Given the description of an element on the screen output the (x, y) to click on. 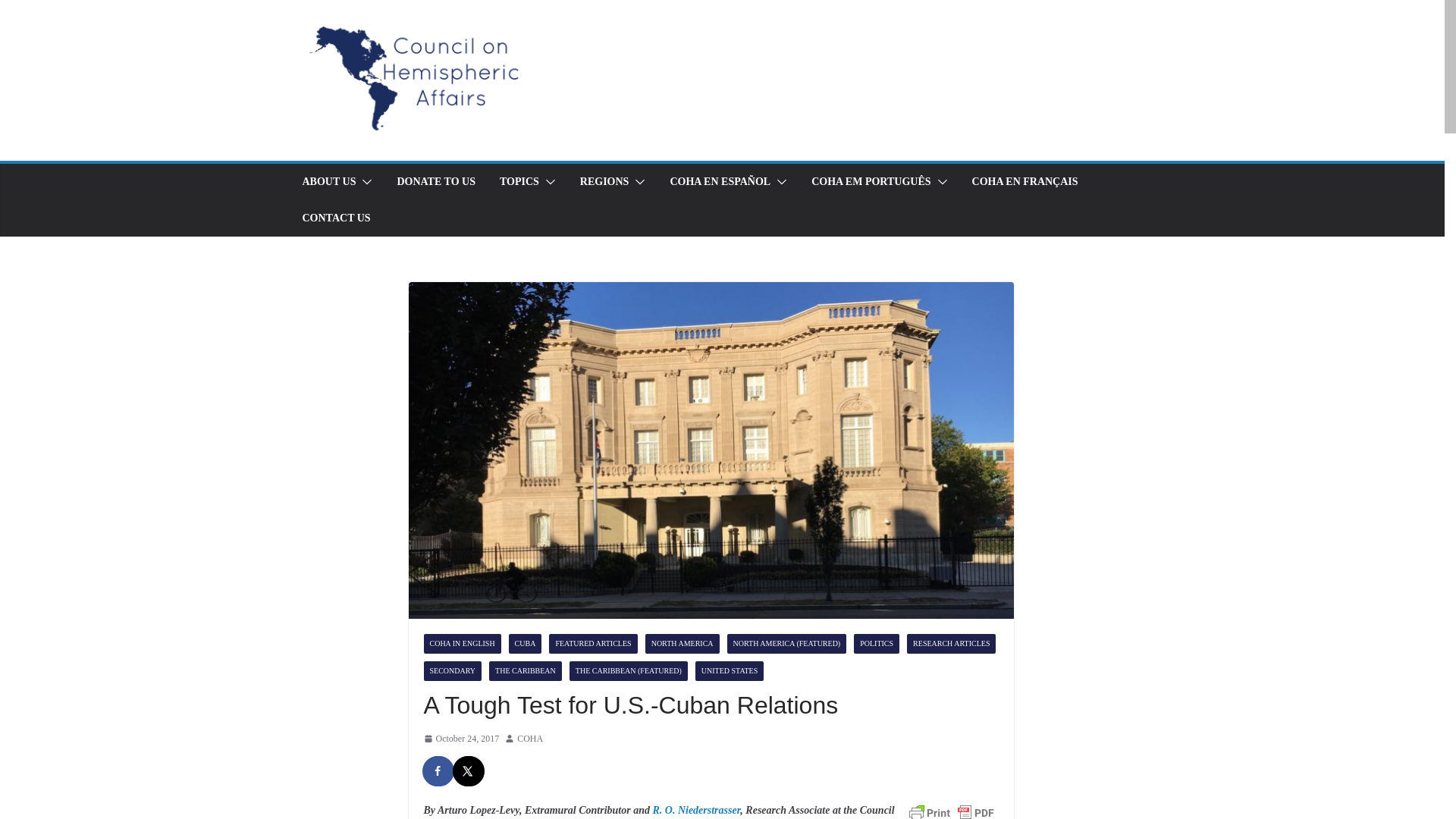
4:16 pm (461, 739)
Share on Facebook (437, 770)
DONATE TO US (435, 181)
Share on X (467, 770)
REGIONS (603, 181)
TOPICS (518, 181)
ABOUT US (328, 181)
COHA (529, 739)
